Given the description of an element on the screen output the (x, y) to click on. 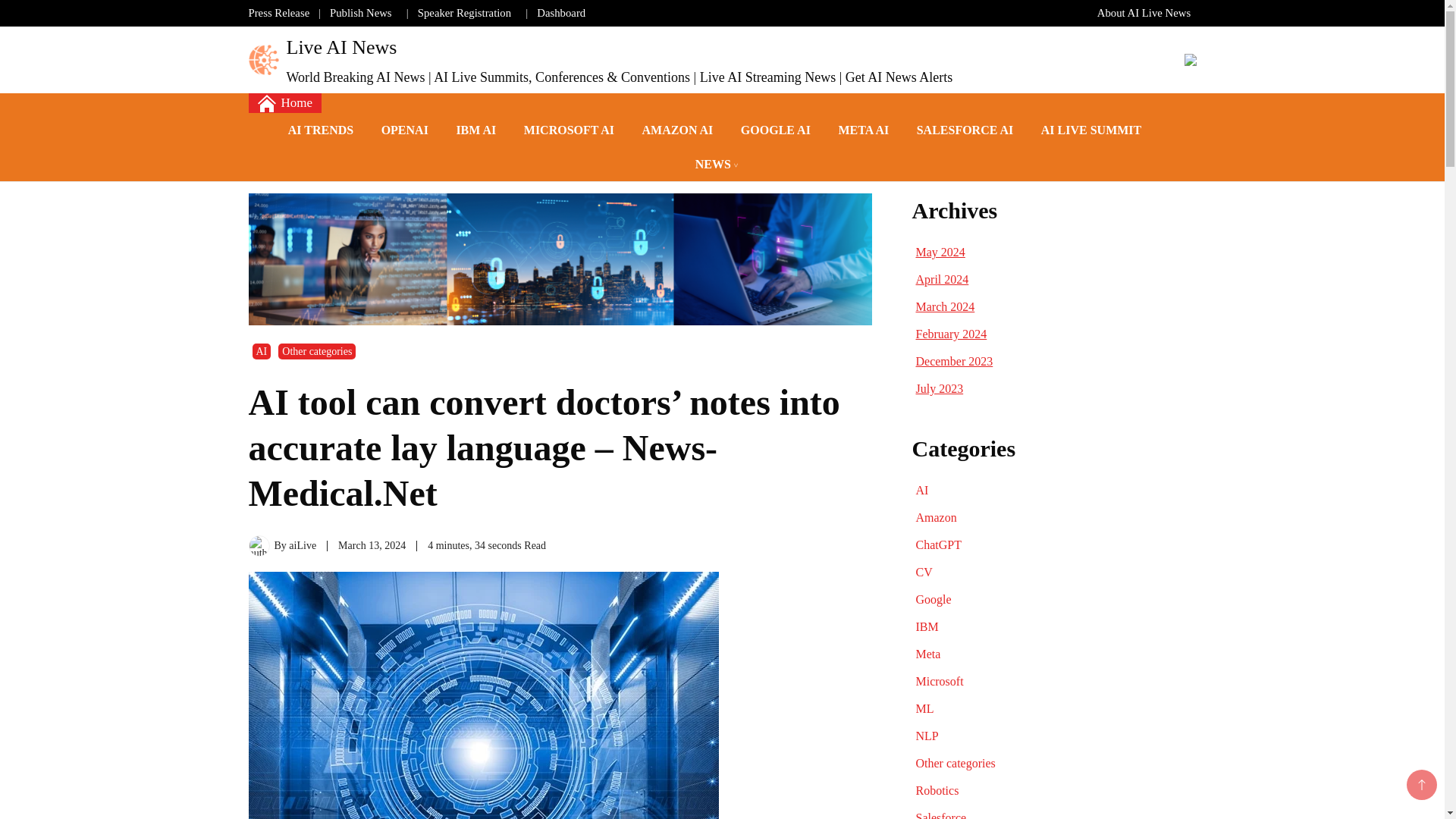
META AI (863, 130)
Live AI News (341, 47)
SALESFORCE AI (965, 130)
Press Release (279, 12)
AI TRENDS (320, 130)
About AI Live News (1144, 12)
IBM AI (476, 130)
Publish News (360, 12)
NEWS (712, 163)
OPENAI (405, 130)
Dashboard (561, 12)
AI LIVE SUMMIT (1091, 130)
Speaker Registration (464, 12)
AMAZON AI (677, 130)
GOOGLE AI (775, 130)
